Given the description of an element on the screen output the (x, y) to click on. 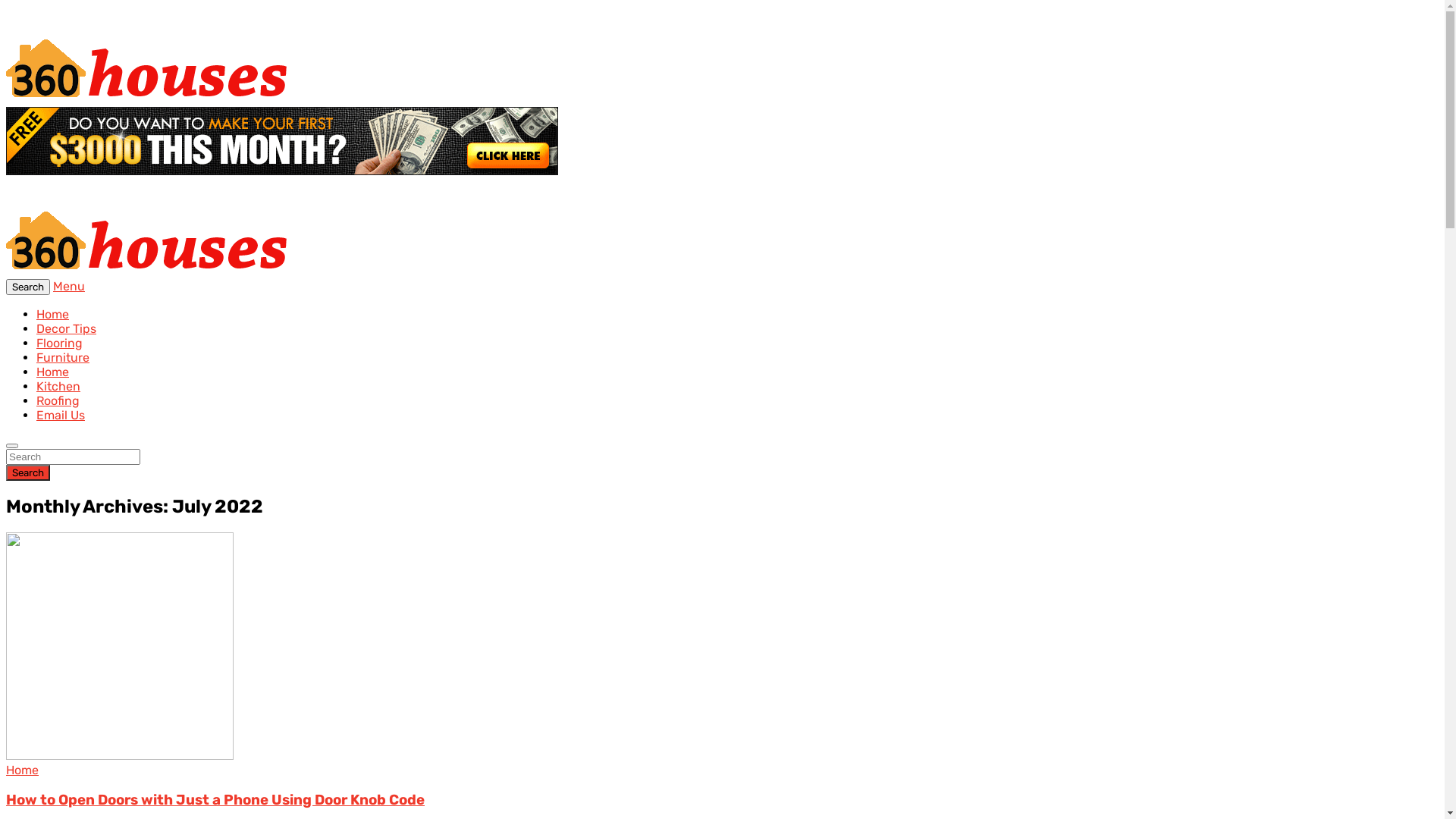
Decor Tips Element type: text (66, 328)
How to Open Doors with Just a Phone Using Door Knob Code Element type: text (215, 799)
Search Element type: text (28, 472)
Home Element type: text (52, 314)
Email Us Element type: text (60, 414)
Home Element type: text (22, 769)
Flooring Element type: text (59, 342)
Kitchen Element type: text (58, 386)
Home Element type: text (52, 371)
Search Element type: text (28, 286)
Roofing Element type: text (57, 400)
Menu Element type: text (68, 286)
Furniture Element type: text (62, 357)
